Given the description of an element on the screen output the (x, y) to click on. 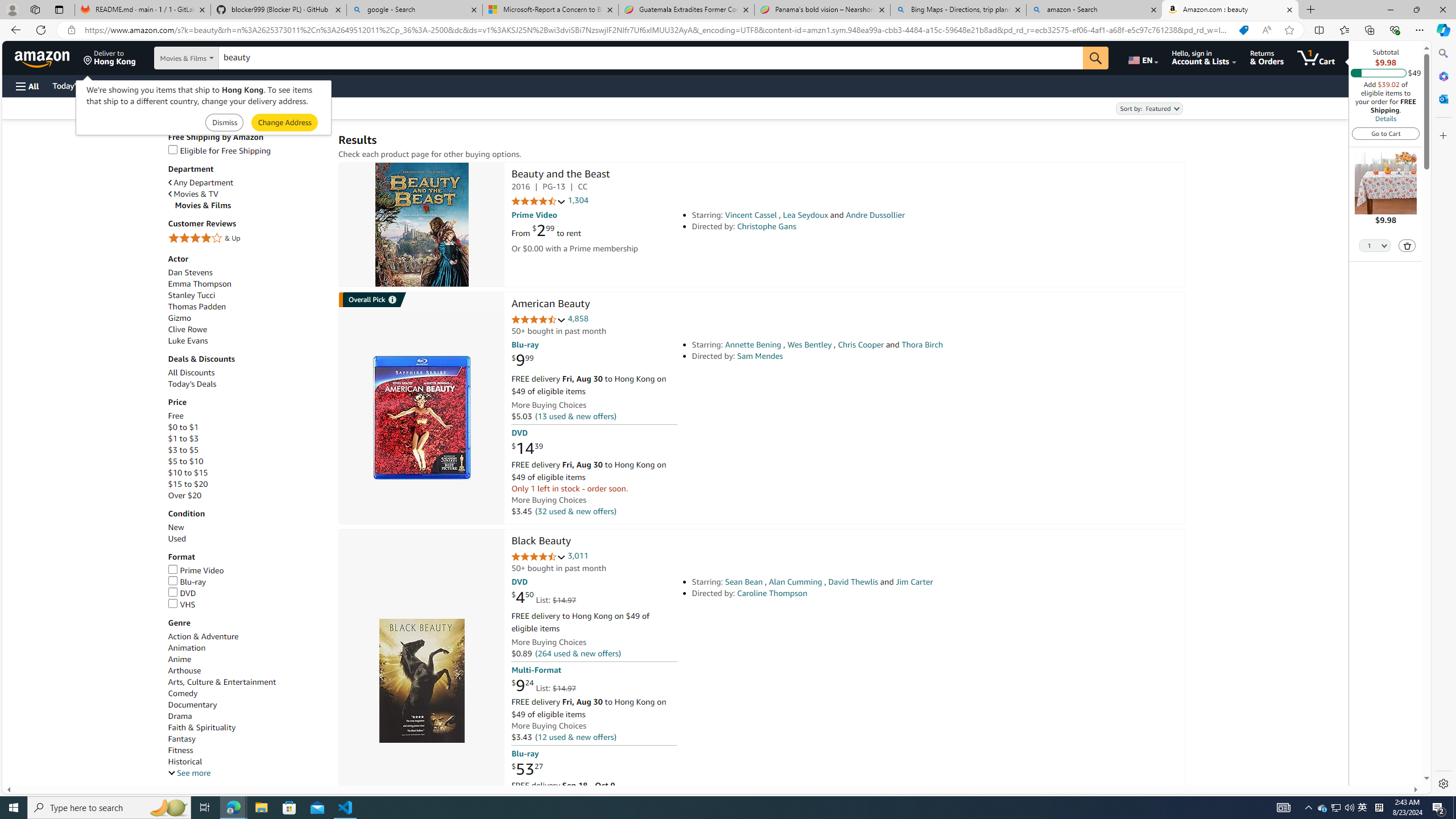
4 Stars & Up (247, 238)
Starring: Vincent Cassel , Lea Seydoux and Andre Dussollier (850, 215)
Gizmo (179, 317)
$0 to $1 (183, 426)
Fantasy (247, 738)
Beauty and the Beast (421, 224)
Eligible for Free Shipping (247, 150)
(264 used & new offers) (577, 653)
Choose a language for shopping. (1142, 57)
4 Stars & Up& Up (247, 238)
See more, Genre (189, 773)
